Given the description of an element on the screen output the (x, y) to click on. 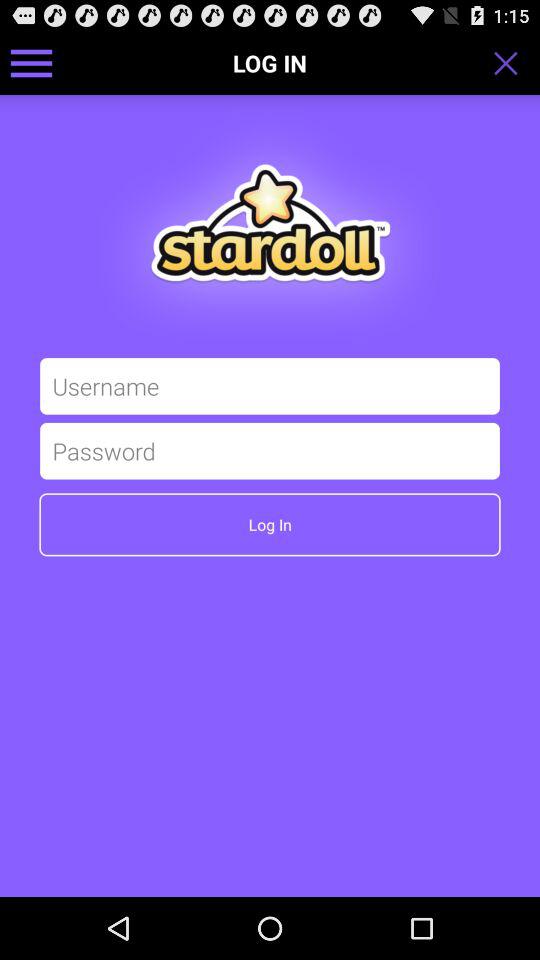
choose the app to the right of the log in app (512, 62)
